Given the description of an element on the screen output the (x, y) to click on. 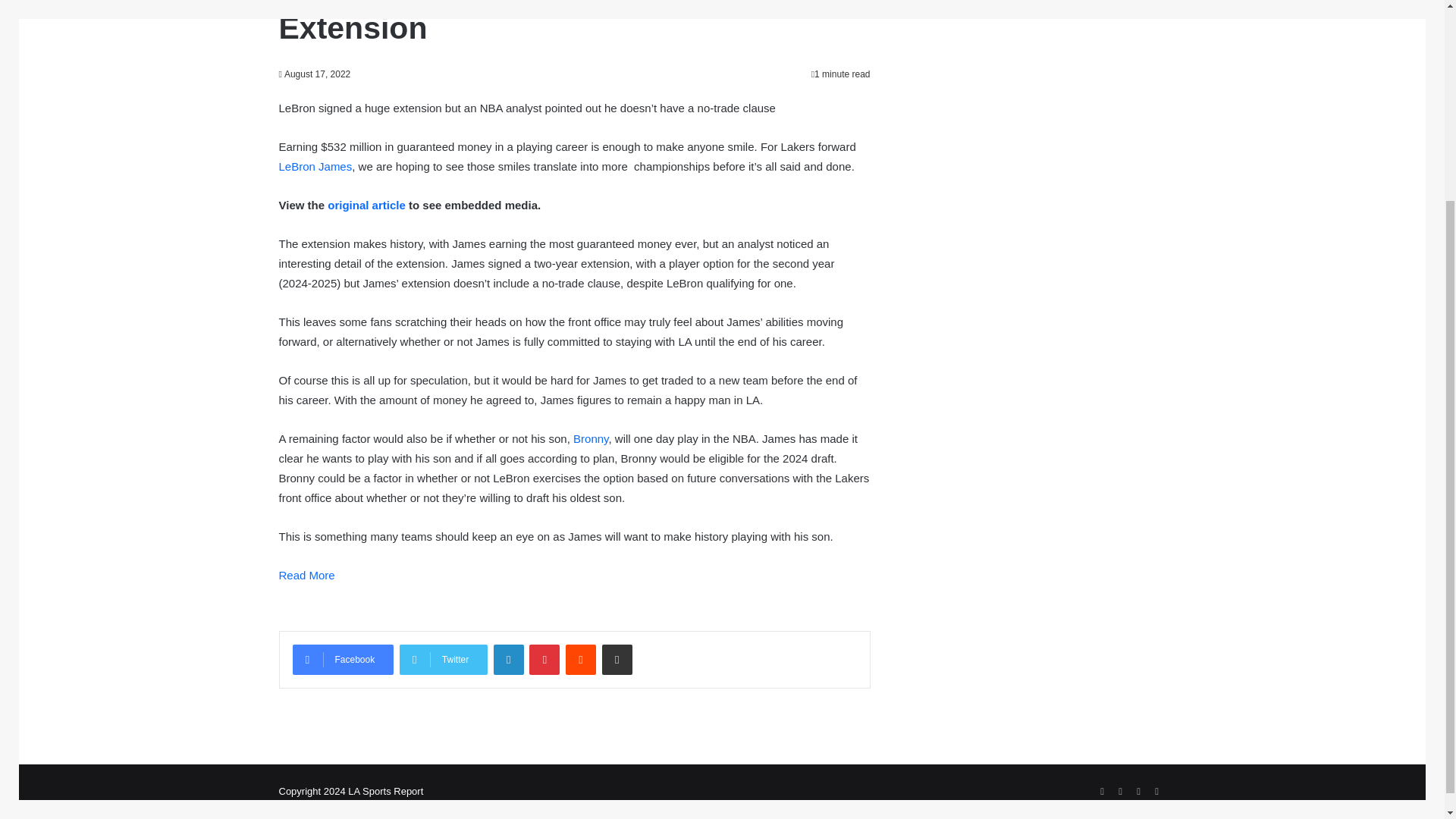
original article (366, 205)
Twitter (1120, 791)
Facebook (1102, 791)
Facebook (343, 659)
Read More (306, 574)
Reddit (580, 659)
LinkedIn (508, 659)
Share via Email (616, 659)
Pinterest (544, 659)
Pinterest (544, 659)
LinkedIn (508, 659)
LeBron James (315, 165)
Bronny (590, 438)
Facebook (343, 659)
Reddit (580, 659)
